Given the description of an element on the screen output the (x, y) to click on. 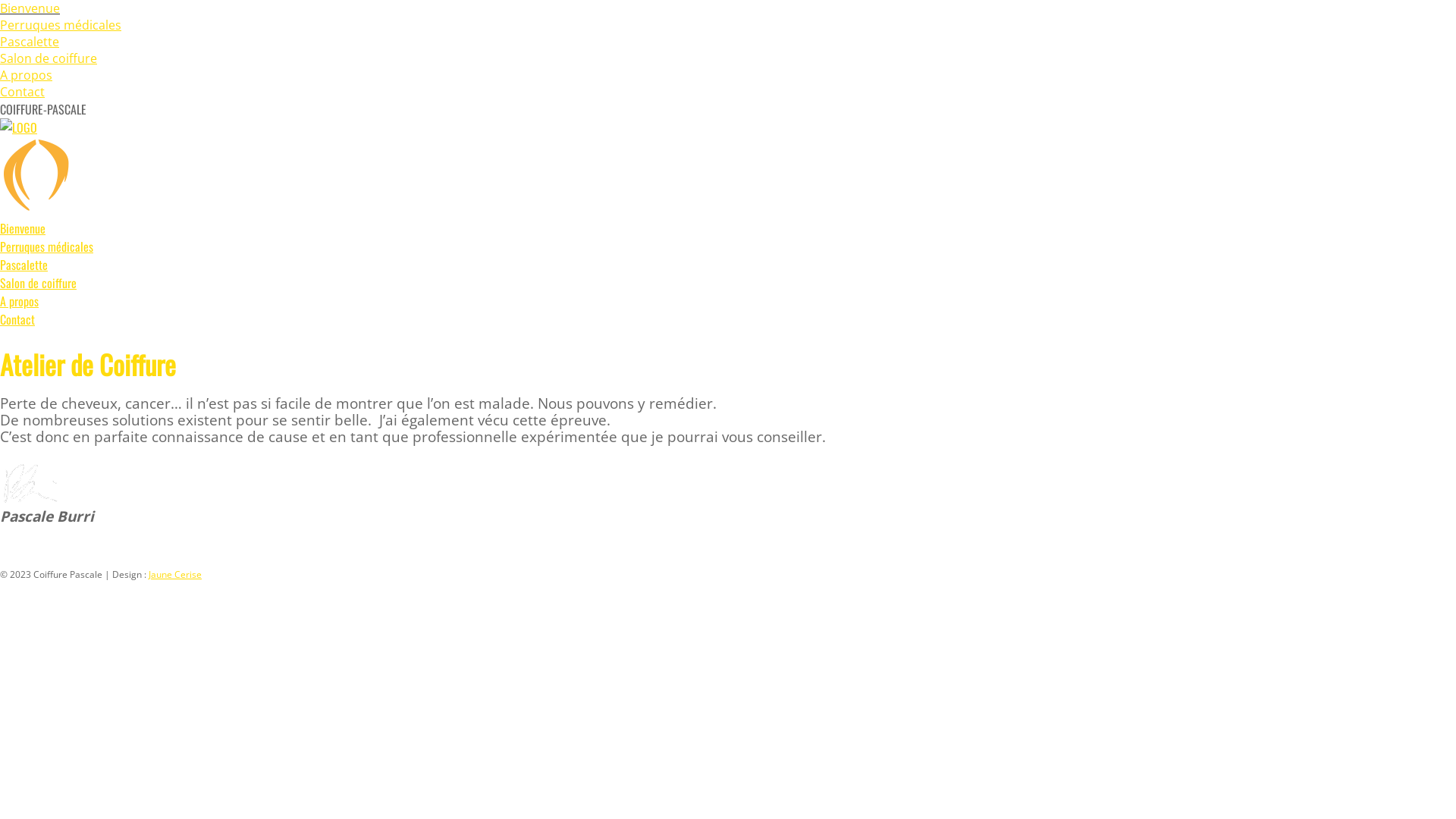
Salon de coiffure Element type: text (38, 283)
Contact Element type: text (17, 319)
A propos Element type: text (26, 74)
Jaune Cerise Element type: text (174, 573)
A propos Element type: text (19, 301)
Contact Element type: text (22, 91)
Bienvenue Element type: text (22, 228)
Pascalette Element type: text (23, 265)
Salon de coiffure Element type: text (48, 58)
Pascalette Element type: text (29, 41)
Bienvenue Element type: text (29, 8)
